Given the description of an element on the screen output the (x, y) to click on. 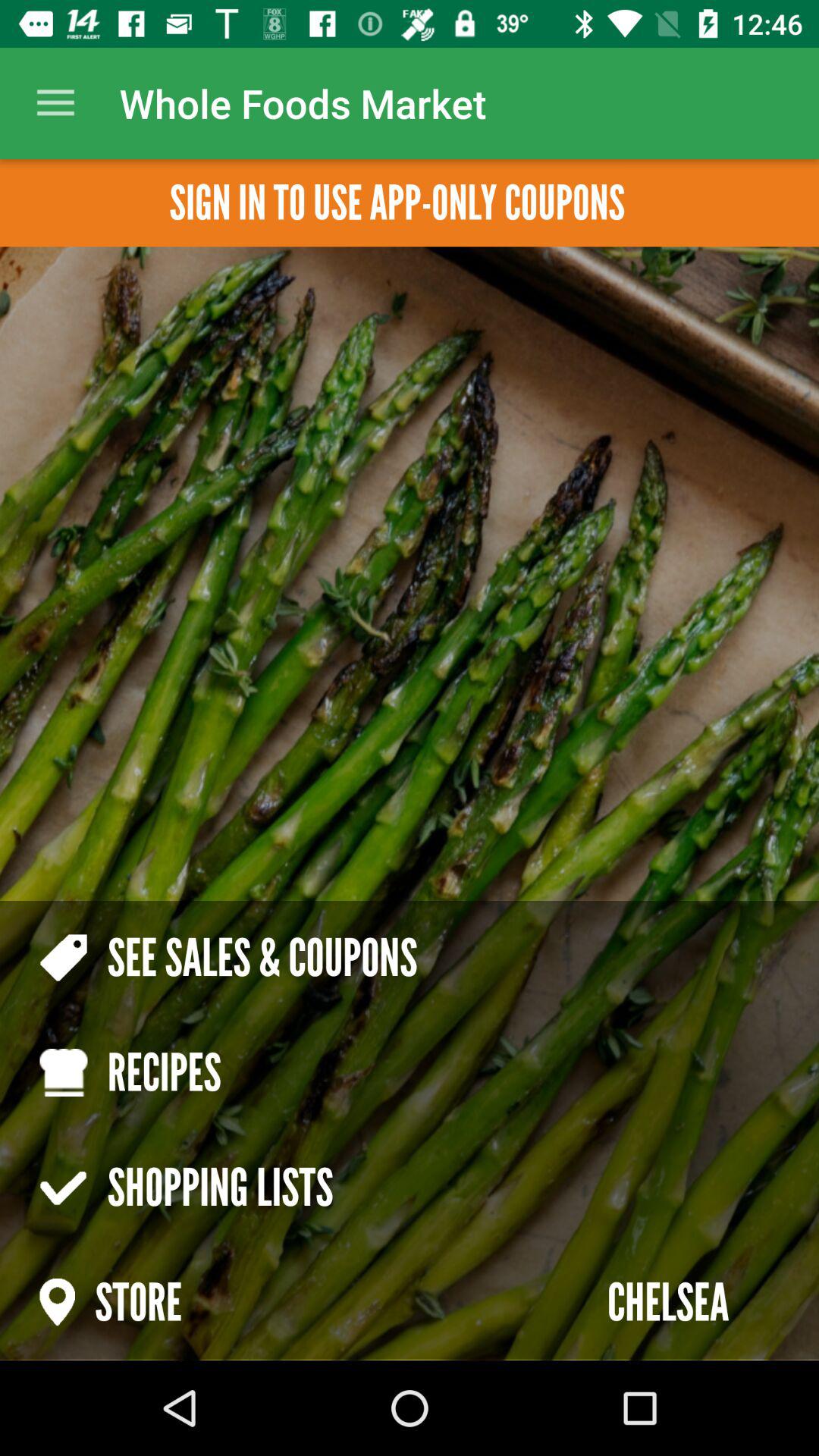
launch the app below whole foods market icon (397, 202)
